Given the description of an element on the screen output the (x, y) to click on. 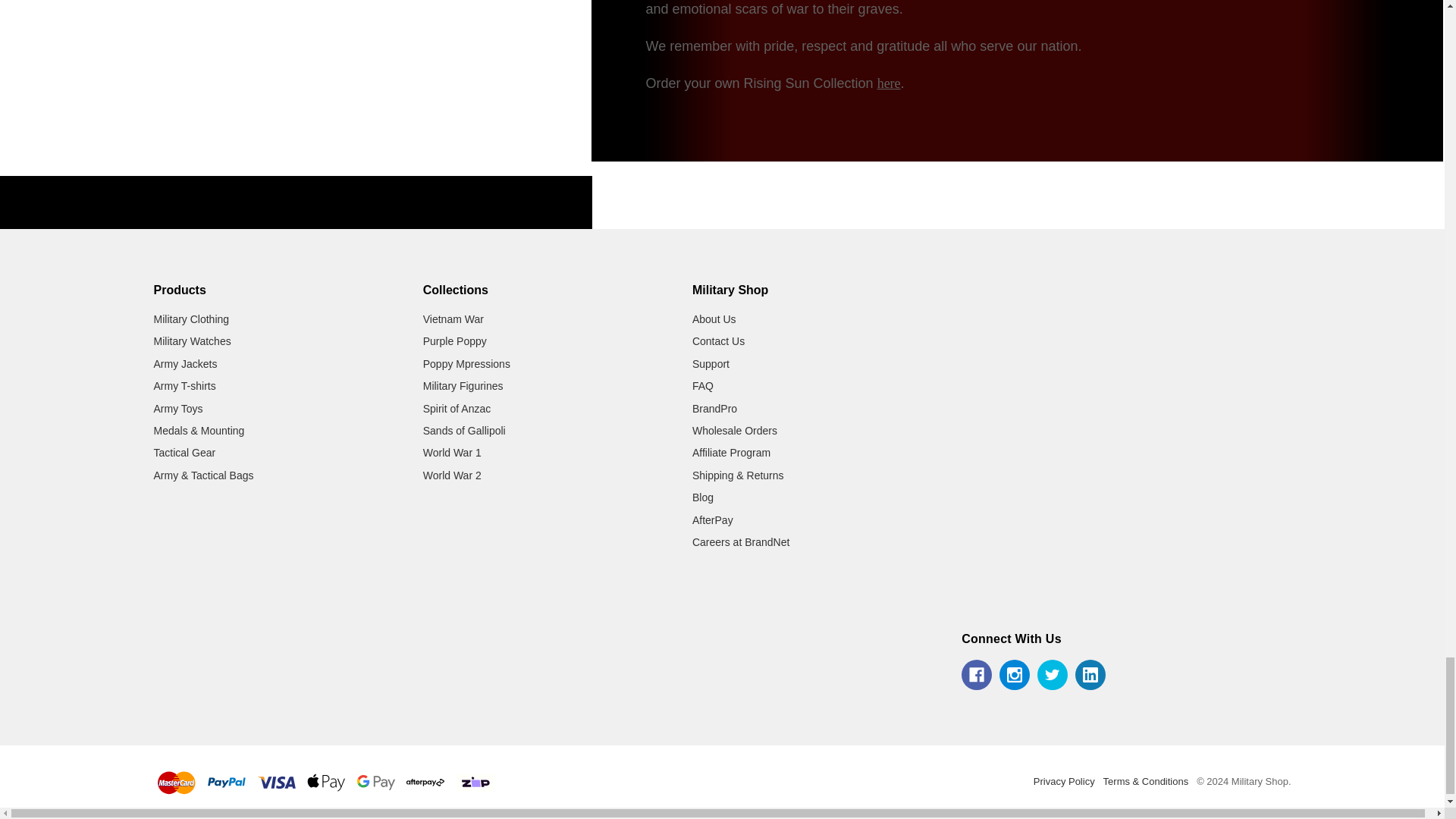
Form 0 (1126, 479)
Military Shop (1055, 299)
